Given the description of an element on the screen output the (x, y) to click on. 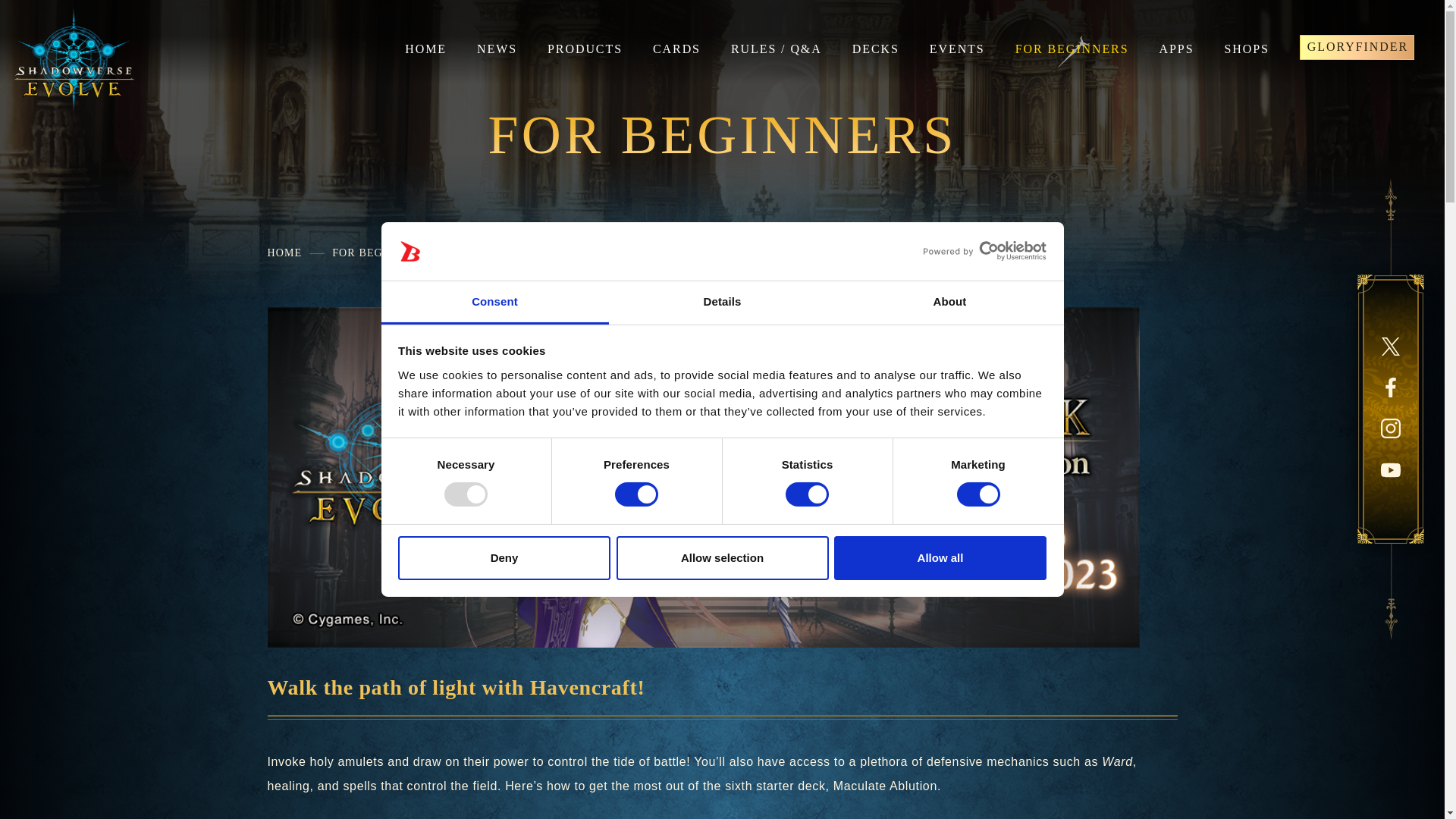
HOME (425, 49)
Details (721, 302)
Allow all (940, 557)
About (948, 302)
Consent (494, 302)
Allow selection (721, 557)
Deny (503, 557)
